Given the description of an element on the screen output the (x, y) to click on. 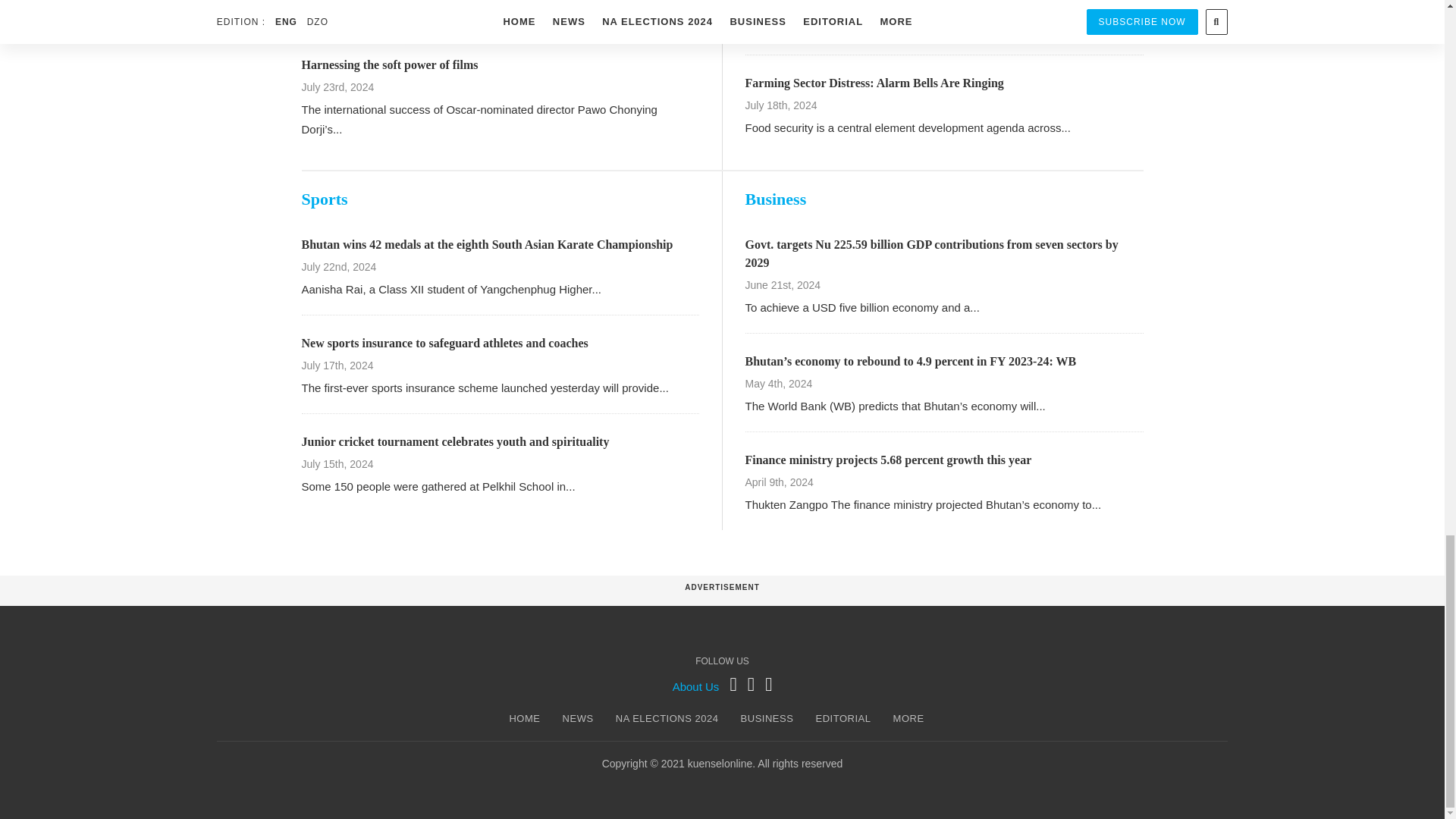
EDITORIAL (843, 718)
NEWS (577, 718)
About Us (695, 686)
Finance ministry projects 5.68 percent growth this year (887, 459)
MORE (908, 718)
Junior cricket tournament celebrates youth and spirituality (455, 440)
Farming Sector Distress: Alarm Bells Are Ringing (873, 82)
HOME (524, 718)
BUSINESS (766, 718)
New sports insurance to safeguard athletes and coaches (444, 342)
Harnessing the soft power of films (390, 64)
NA ELECTIONS 2024 (666, 718)
